Given the description of an element on the screen output the (x, y) to click on. 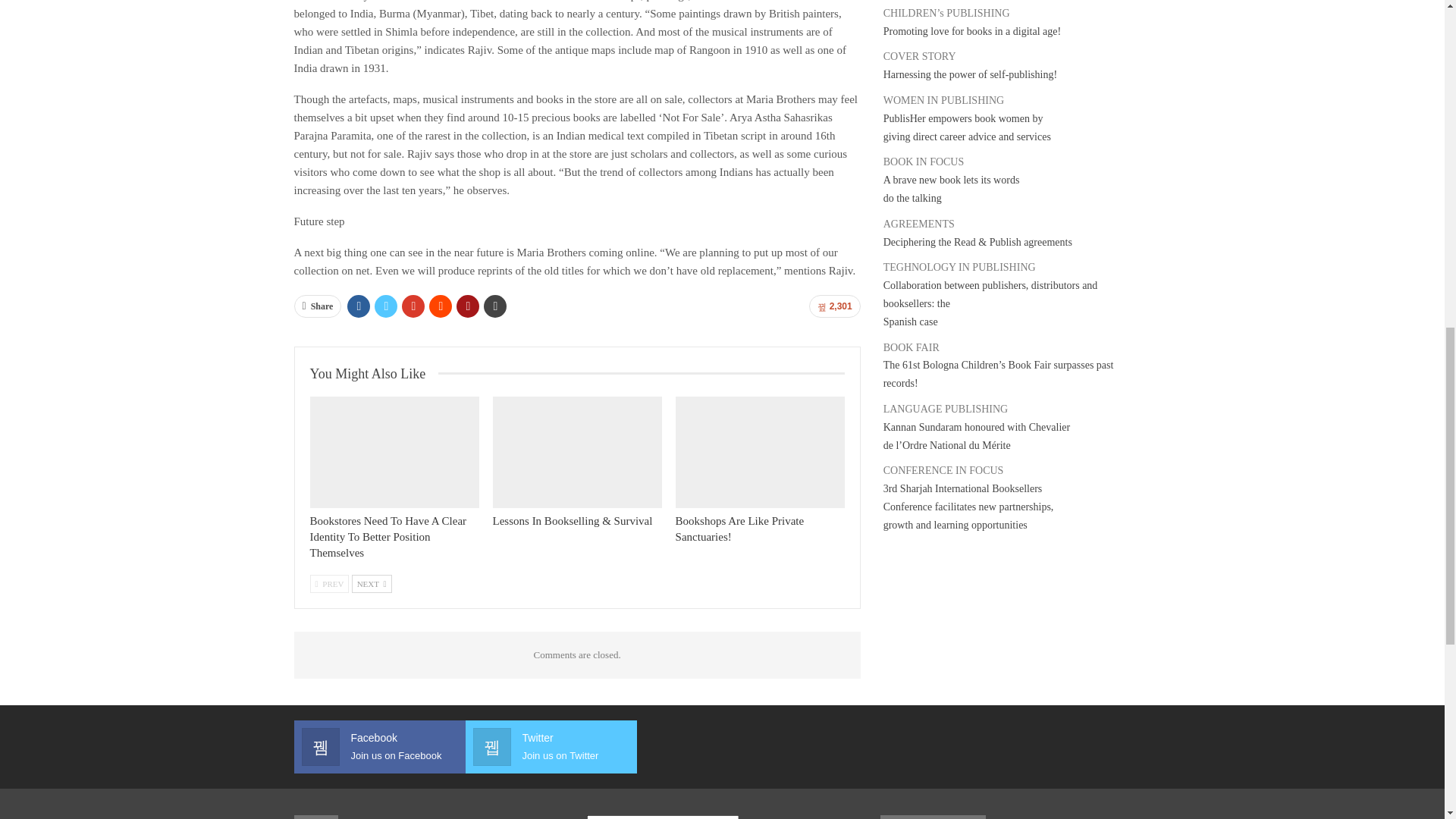
Bookshops are like private sanctuaries! (759, 451)
Next (371, 583)
Previous (328, 583)
You Might Also Like (373, 373)
